Given the description of an element on the screen output the (x, y) to click on. 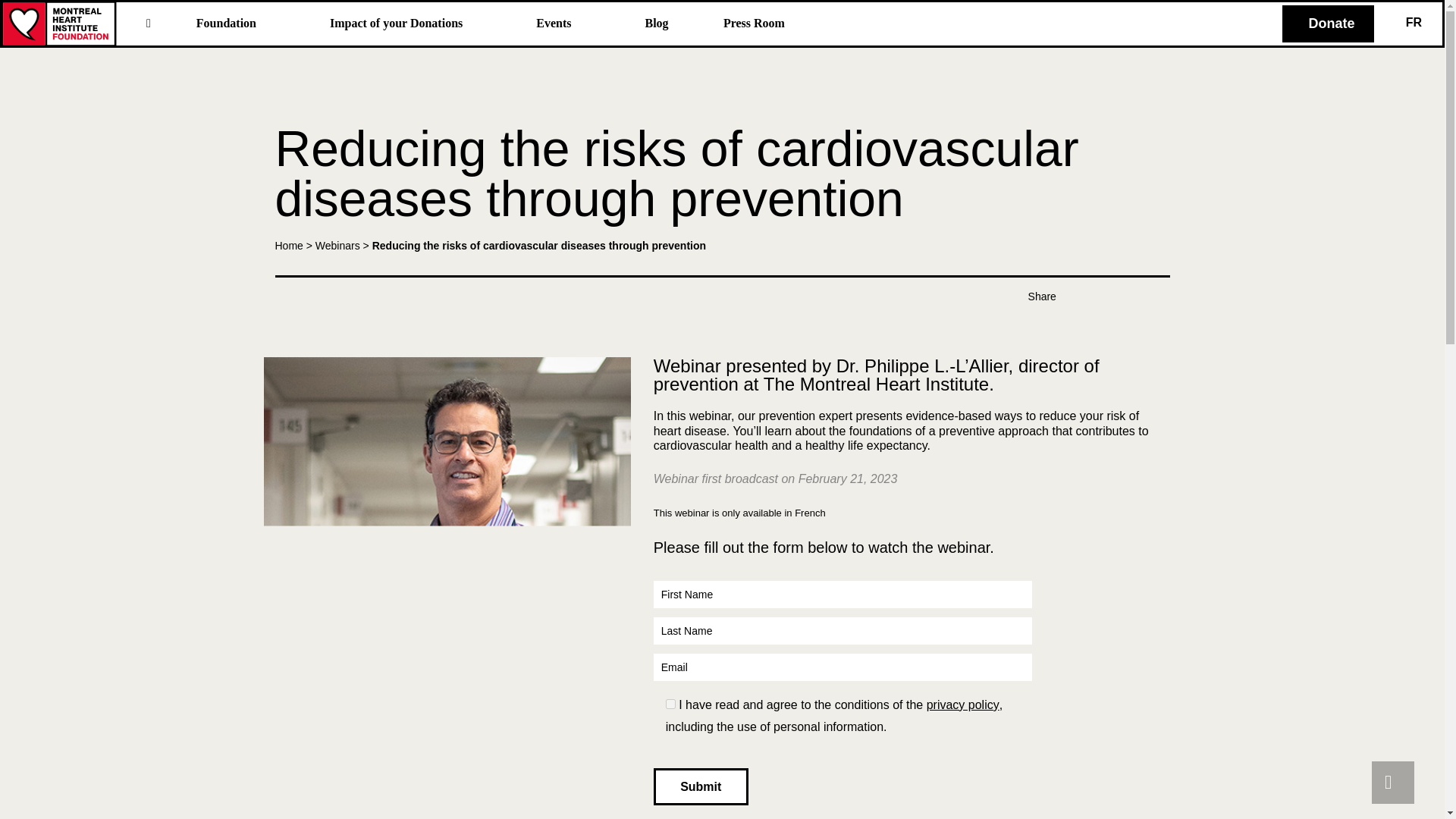
Webinars (337, 245)
Foundation (239, 23)
Impact of your Donations (408, 23)
Press Room (757, 23)
Events (566, 23)
1 (670, 704)
Blog (660, 23)
Submit (700, 786)
Share (1042, 296)
